Given the description of an element on the screen output the (x, y) to click on. 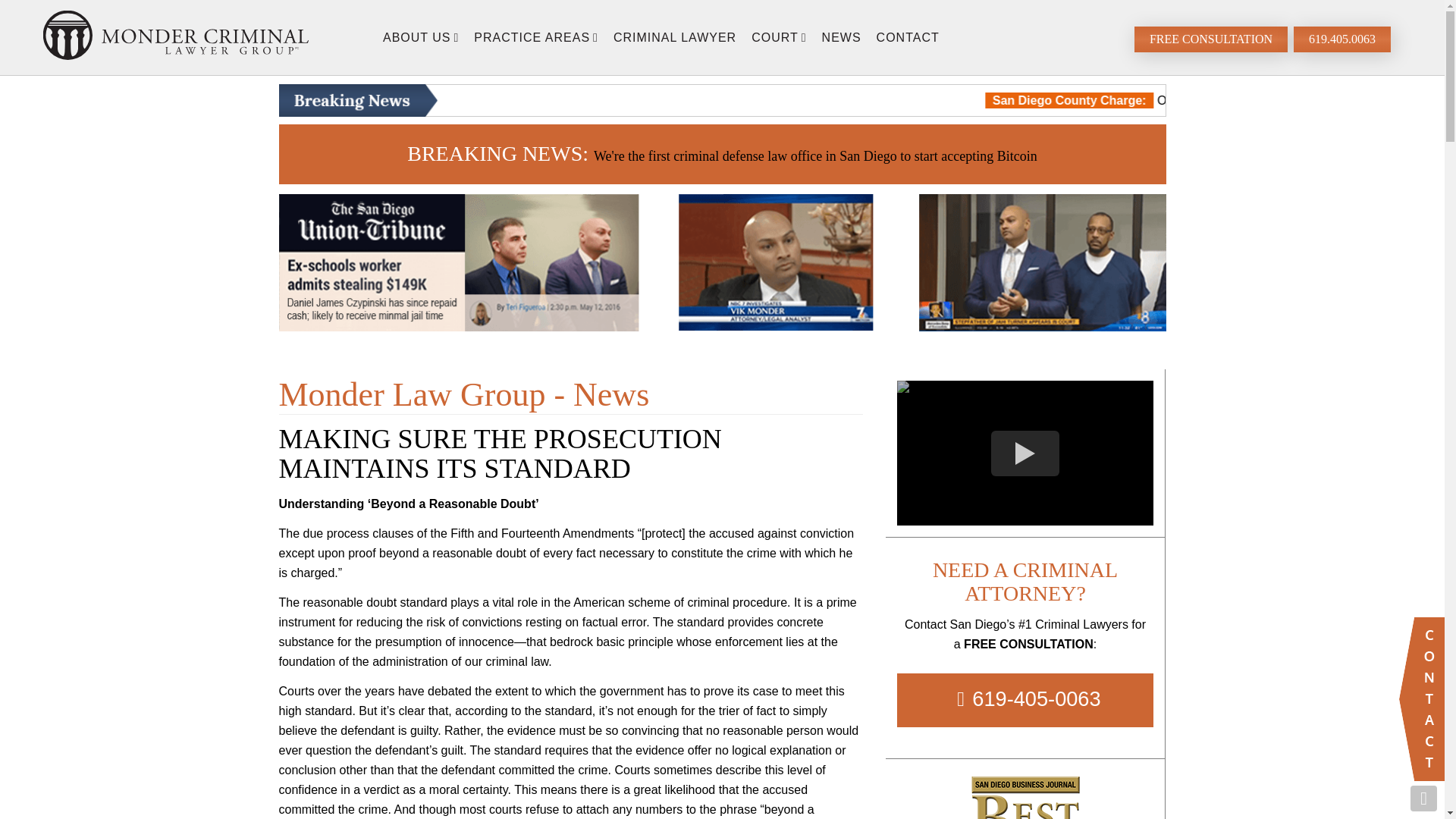
ABOUT US (420, 37)
Go to Top (1423, 798)
Practice Areas (535, 37)
Monder Criminal Lawyer Group CA (175, 37)
Monder Criminal Lawyer Group (175, 37)
About Us (420, 37)
Monder Criminal Lawyer Group (175, 37)
Monder Criminal Lawyer Group (175, 34)
PRACTICE AREAS (535, 37)
